Given the description of an element on the screen output the (x, y) to click on. 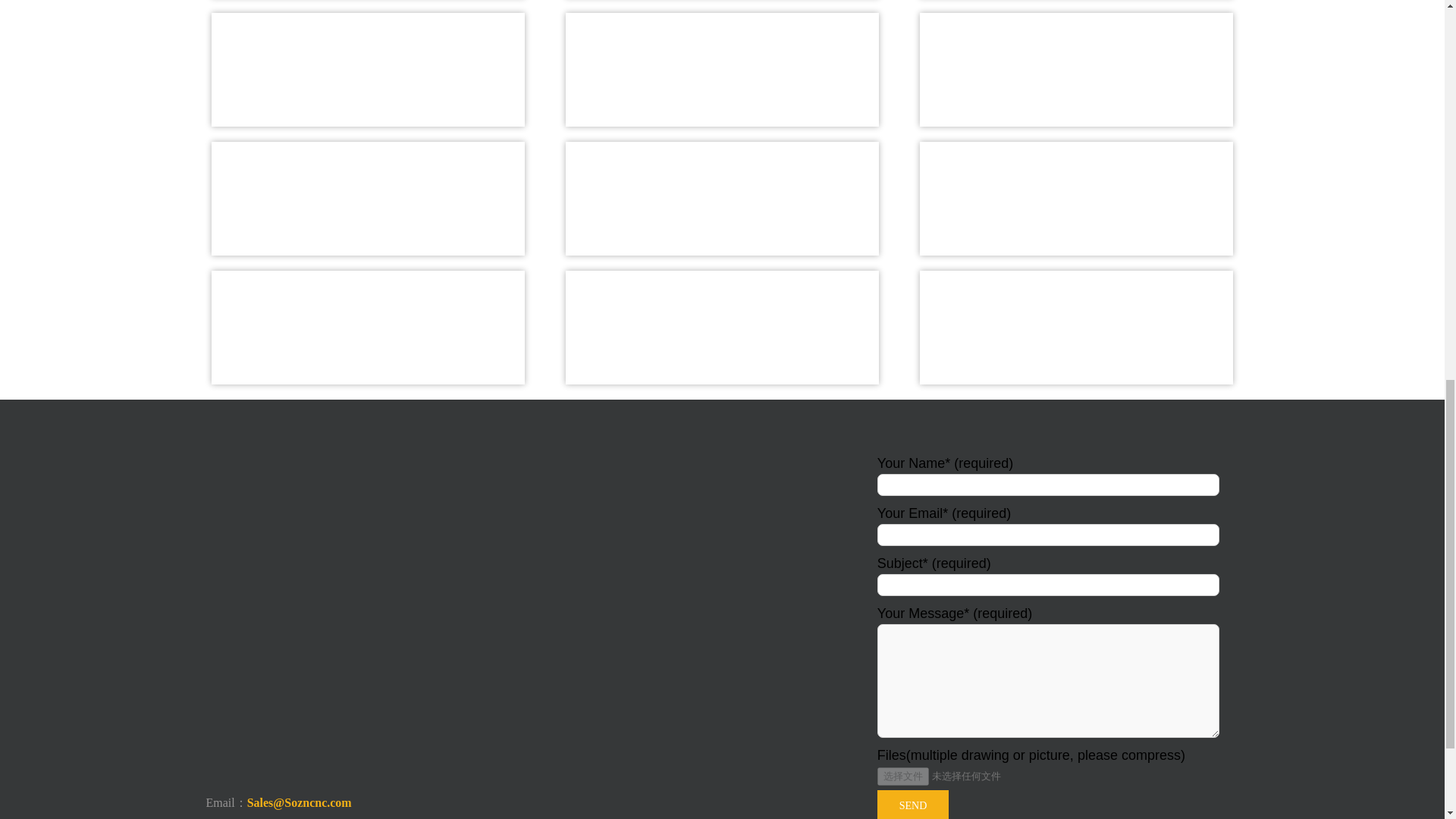
Send (913, 804)
Send (913, 804)
